Given the description of an element on the screen output the (x, y) to click on. 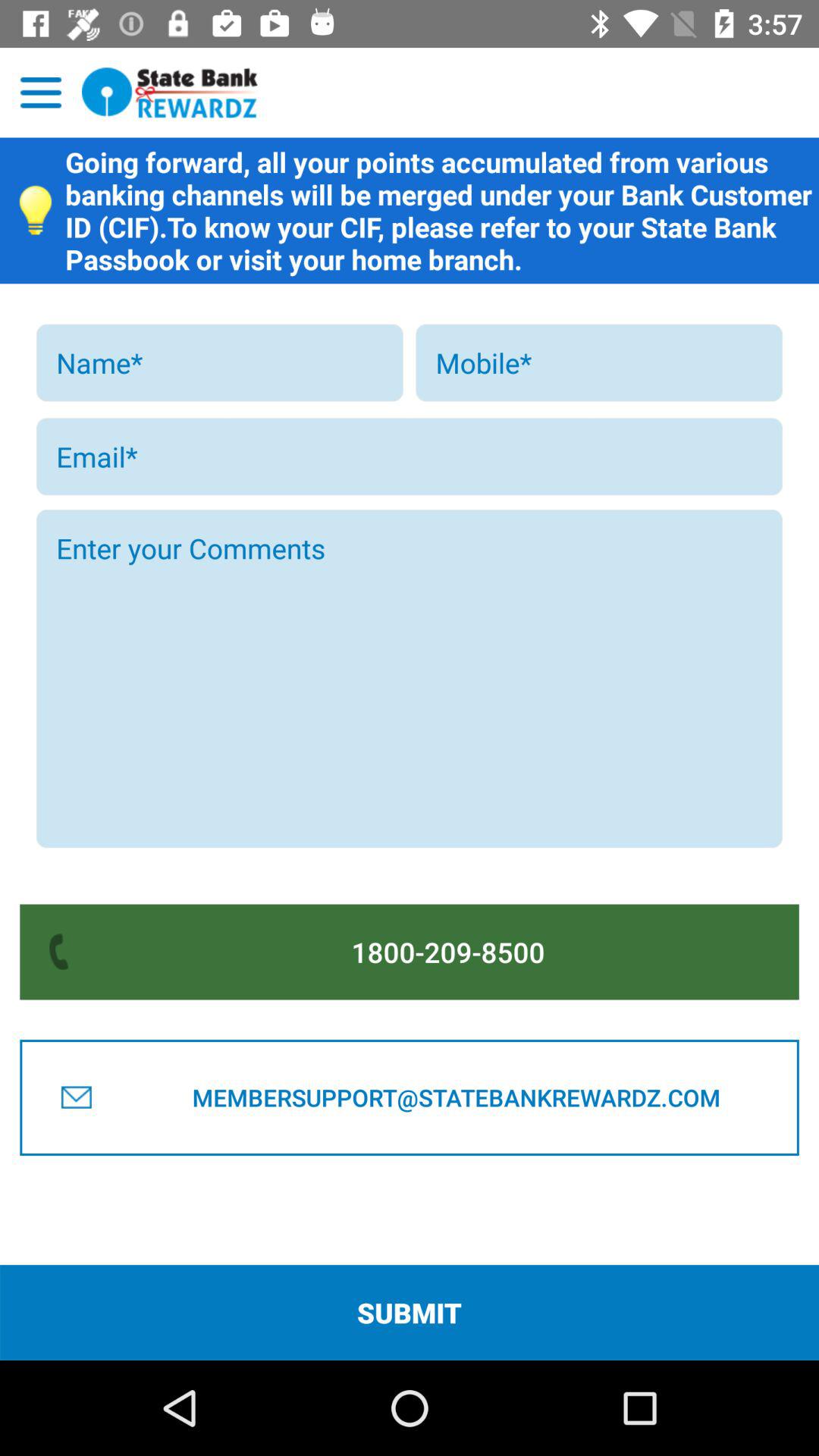
launch the membersupport@statebankrewardz.com item (455, 1097)
